Given the description of an element on the screen output the (x, y) to click on. 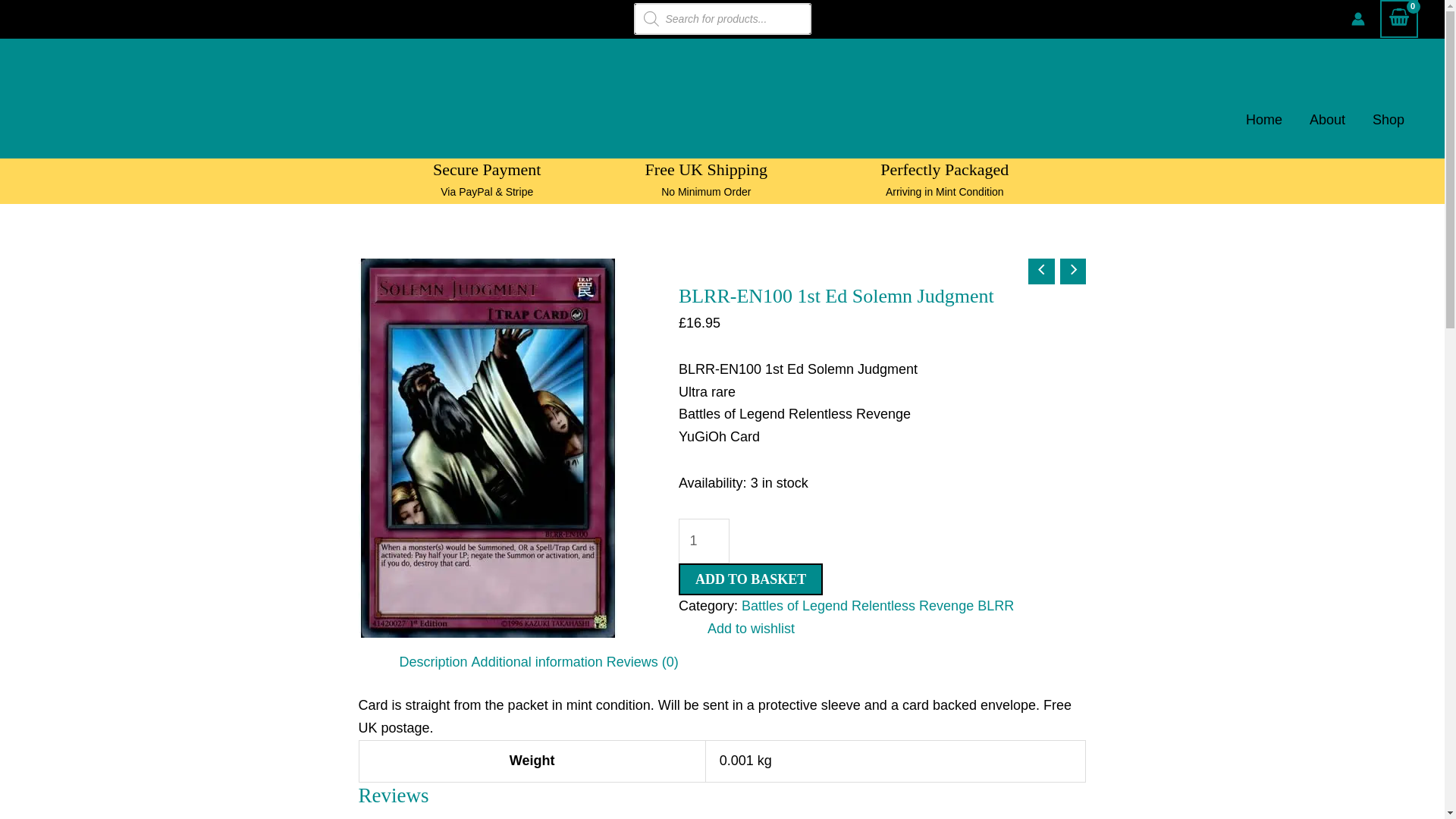
Shop (1388, 118)
Add to wishlist (738, 629)
About (1326, 118)
ADD TO BASKET (750, 579)
1 (703, 540)
Battles of Legend Relentless Revenge BLRR (877, 605)
Description (432, 661)
Home (1263, 118)
Additional information (536, 661)
